Given the description of an element on the screen output the (x, y) to click on. 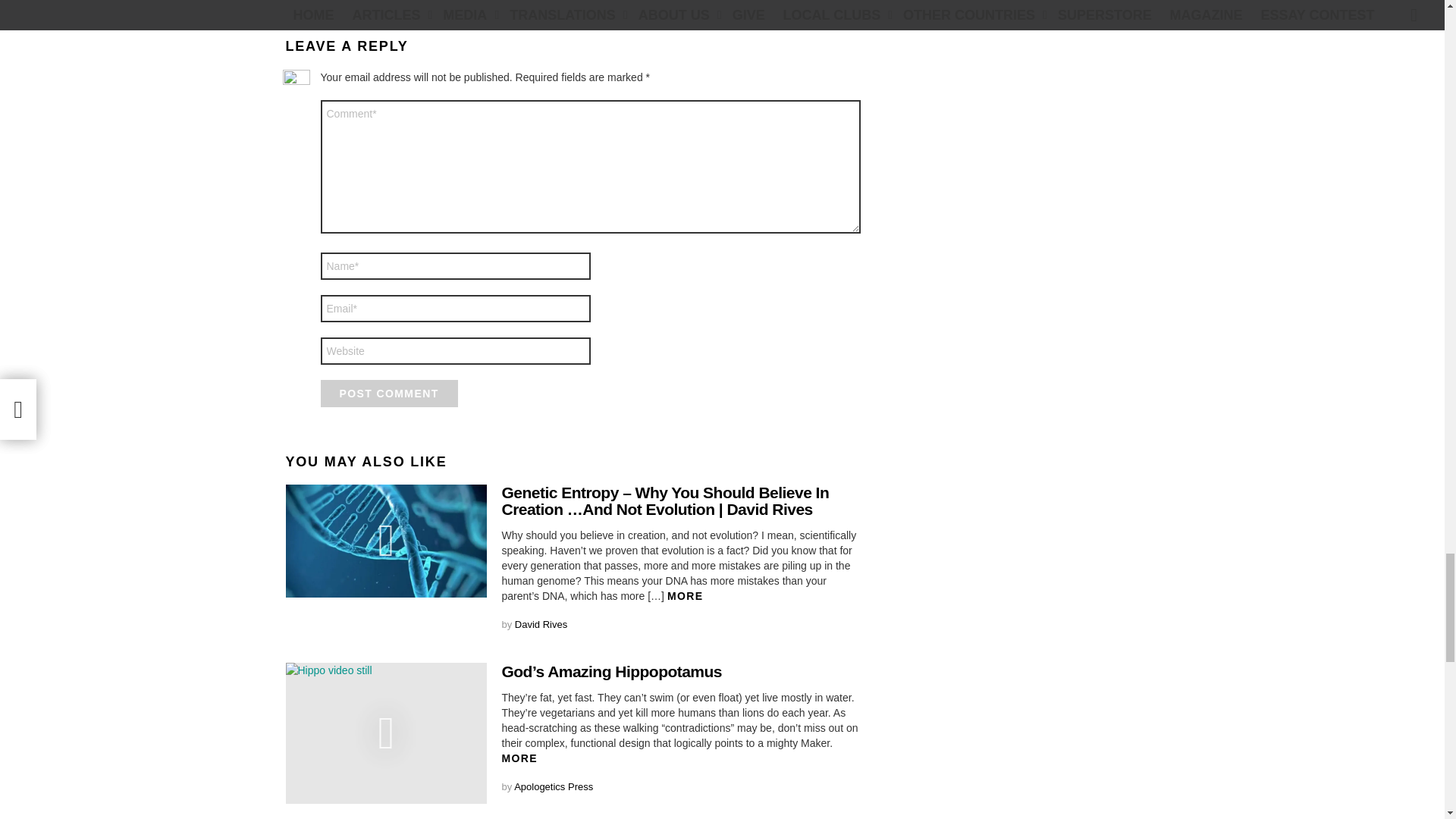
Post Comment (388, 393)
Posts by David Rives (541, 624)
Posts by Apologetics Press (552, 786)
